Given the description of an element on the screen output the (x, y) to click on. 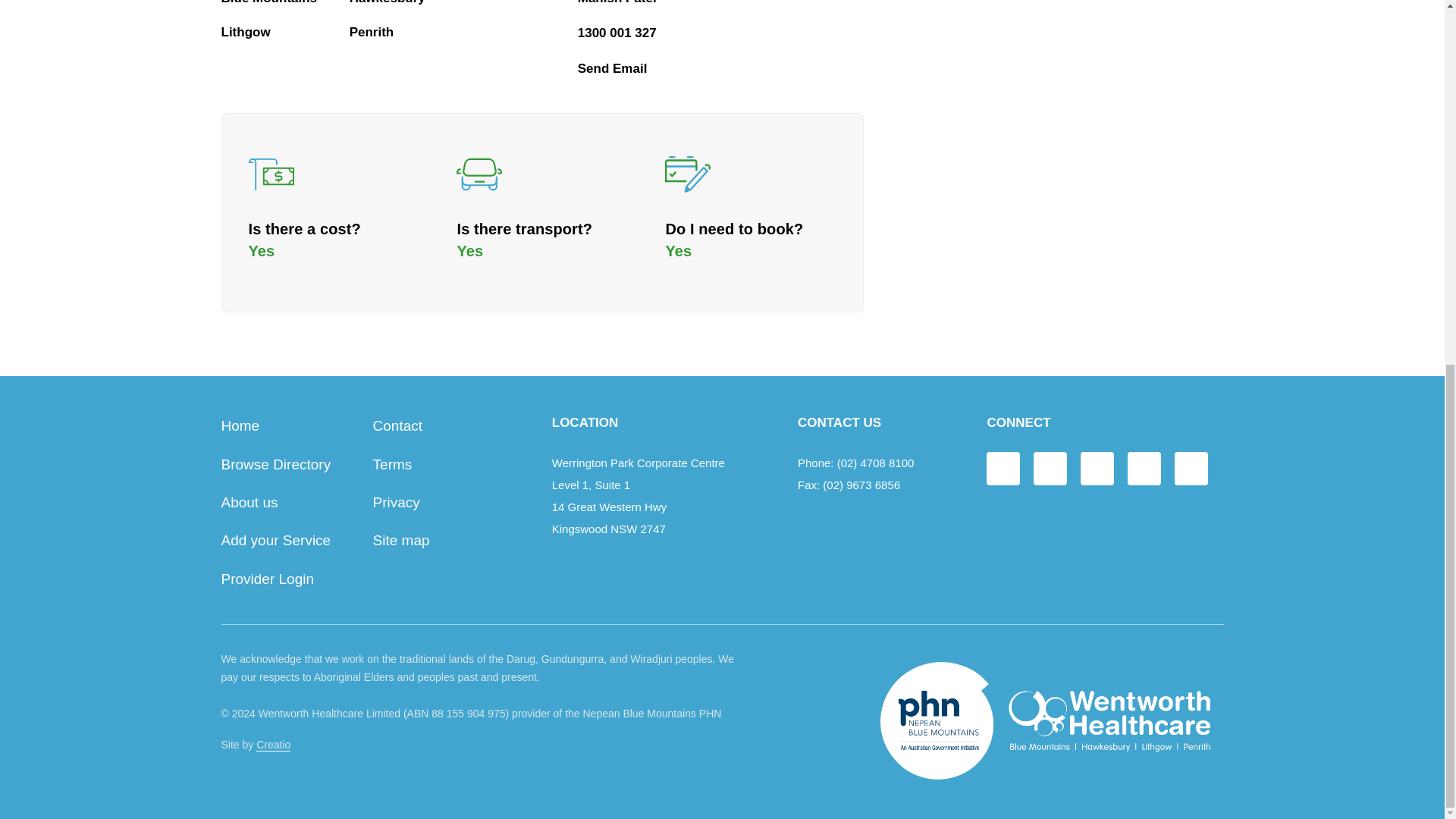
Add your Service (276, 539)
Send Email (612, 68)
Terms (392, 464)
Contact (397, 425)
Site map (400, 539)
Browse Directory (276, 464)
Privacy (396, 502)
Provider Login (267, 578)
About us (249, 502)
1300 001 327 (617, 32)
